Given the description of an element on the screen output the (x, y) to click on. 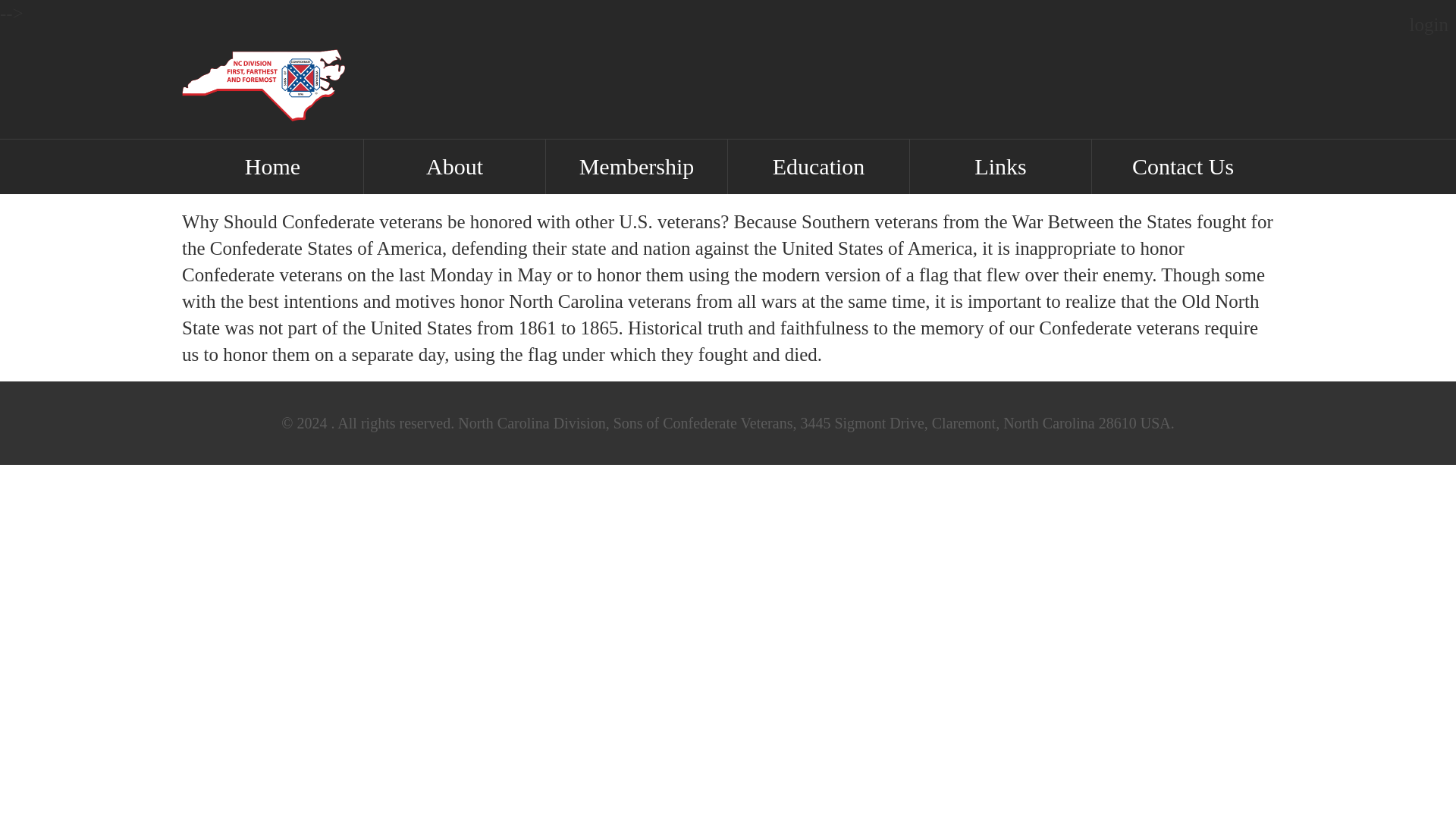
NC Sons of Confederate Veterans (749, 422)
login (1428, 24)
Links (1000, 166)
Contact Us (1183, 166)
Home (272, 166)
About (454, 166)
Education (818, 166)
Membership (636, 166)
